Given the description of an element on the screen output the (x, y) to click on. 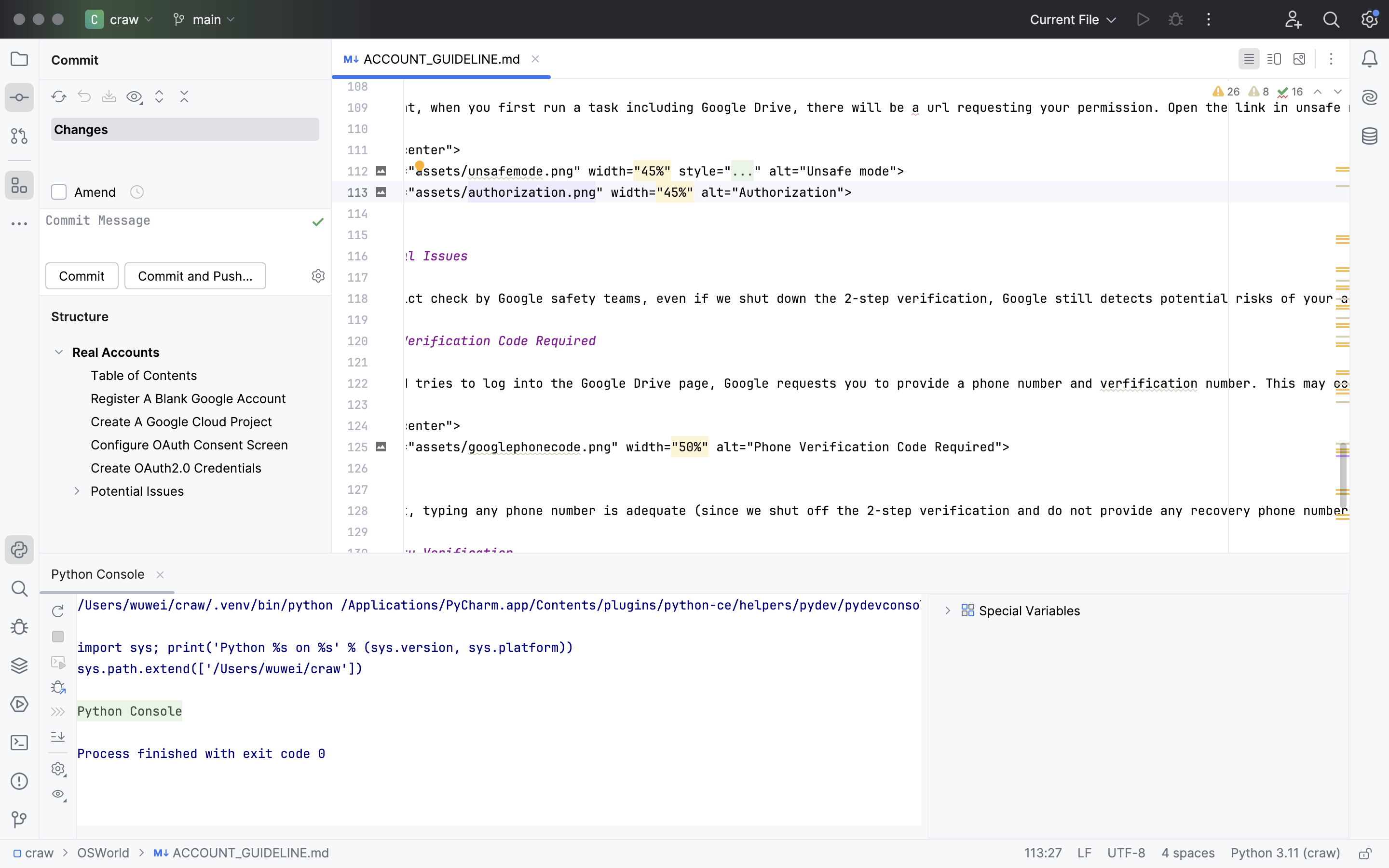
UTF-8 Element type: AXStaticText (1126, 854)
Python Console Element type: AXStaticText (106, 573)
8 Element type: AXStaticText (1257, 91)
113:27 Element type: AXStaticText (1042, 854)
